Given the description of an element on the screen output the (x, y) to click on. 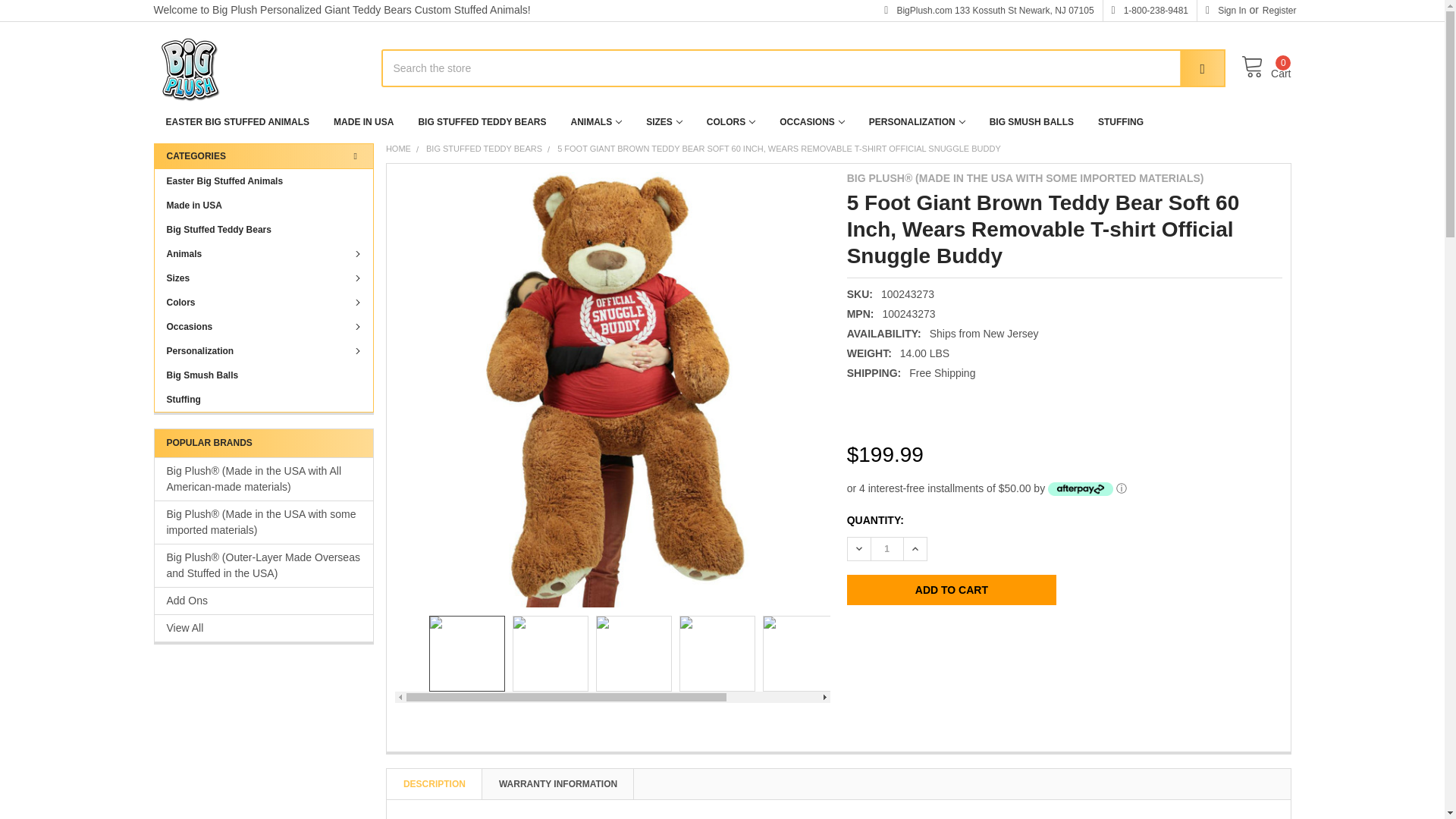
Add to Cart (1265, 67)
ANIMALS (952, 589)
Cart (596, 121)
Sign In (1265, 67)
Search (1224, 10)
1 (1191, 67)
